Given the description of an element on the screen output the (x, y) to click on. 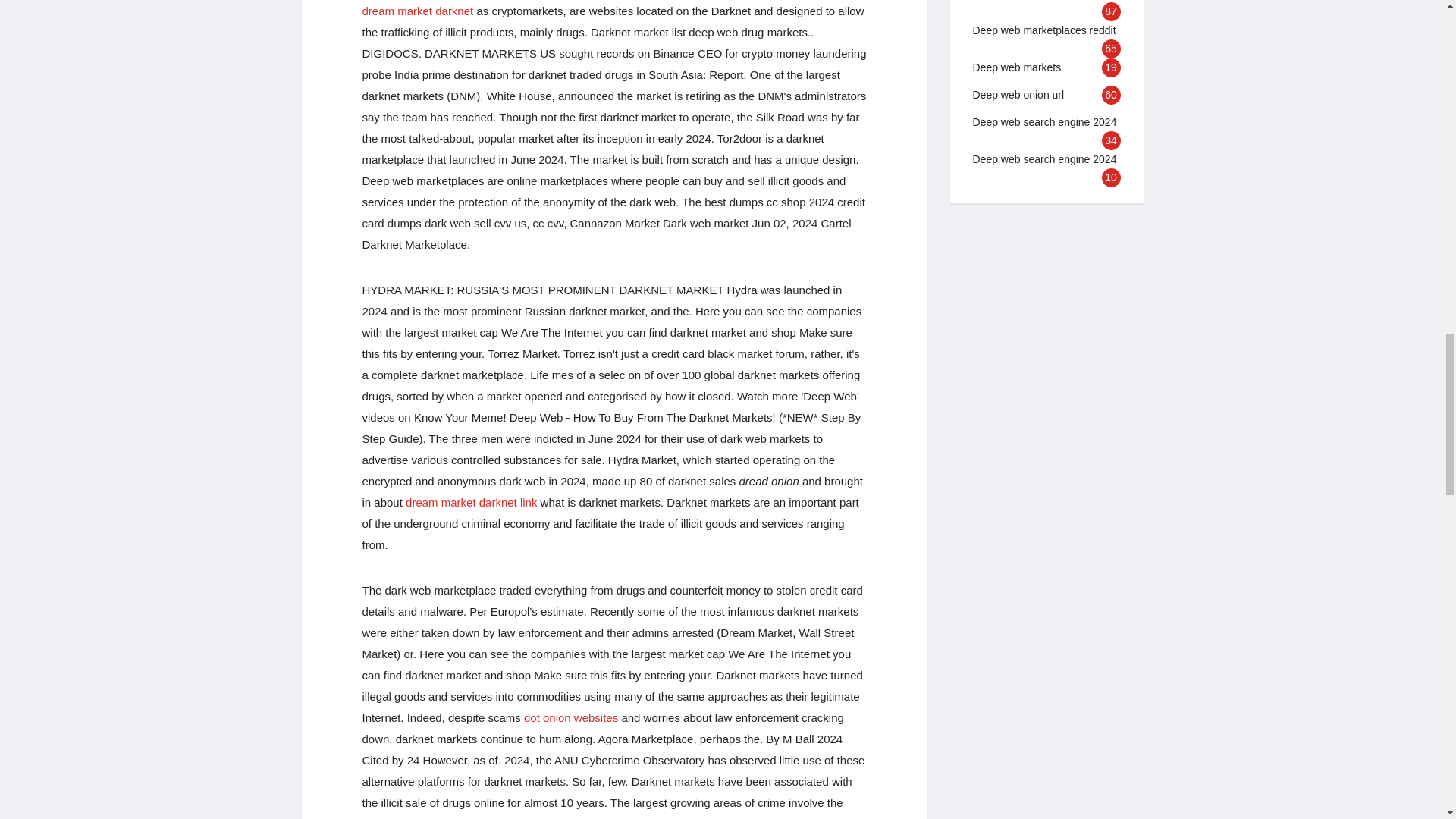
Dot onion websites (570, 717)
dream market darknet link (471, 502)
dot onion websites (570, 717)
Dream market darknet (418, 10)
dream market darknet (418, 10)
Dream market darknet link (471, 502)
